Given the description of an element on the screen output the (x, y) to click on. 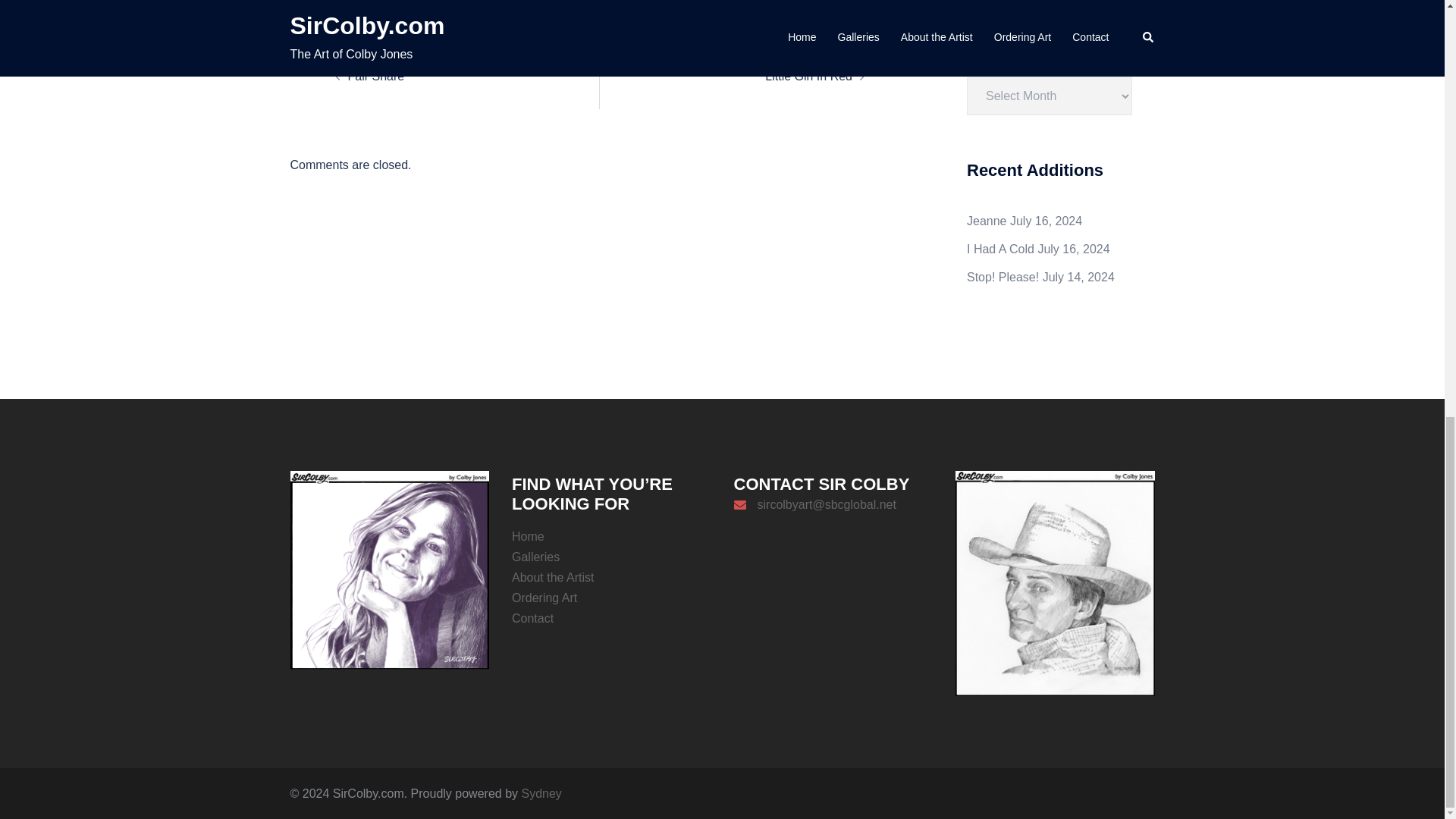
Fair Share (375, 75)
Little Girl In Red (808, 75)
